Given the description of an element on the screen output the (x, y) to click on. 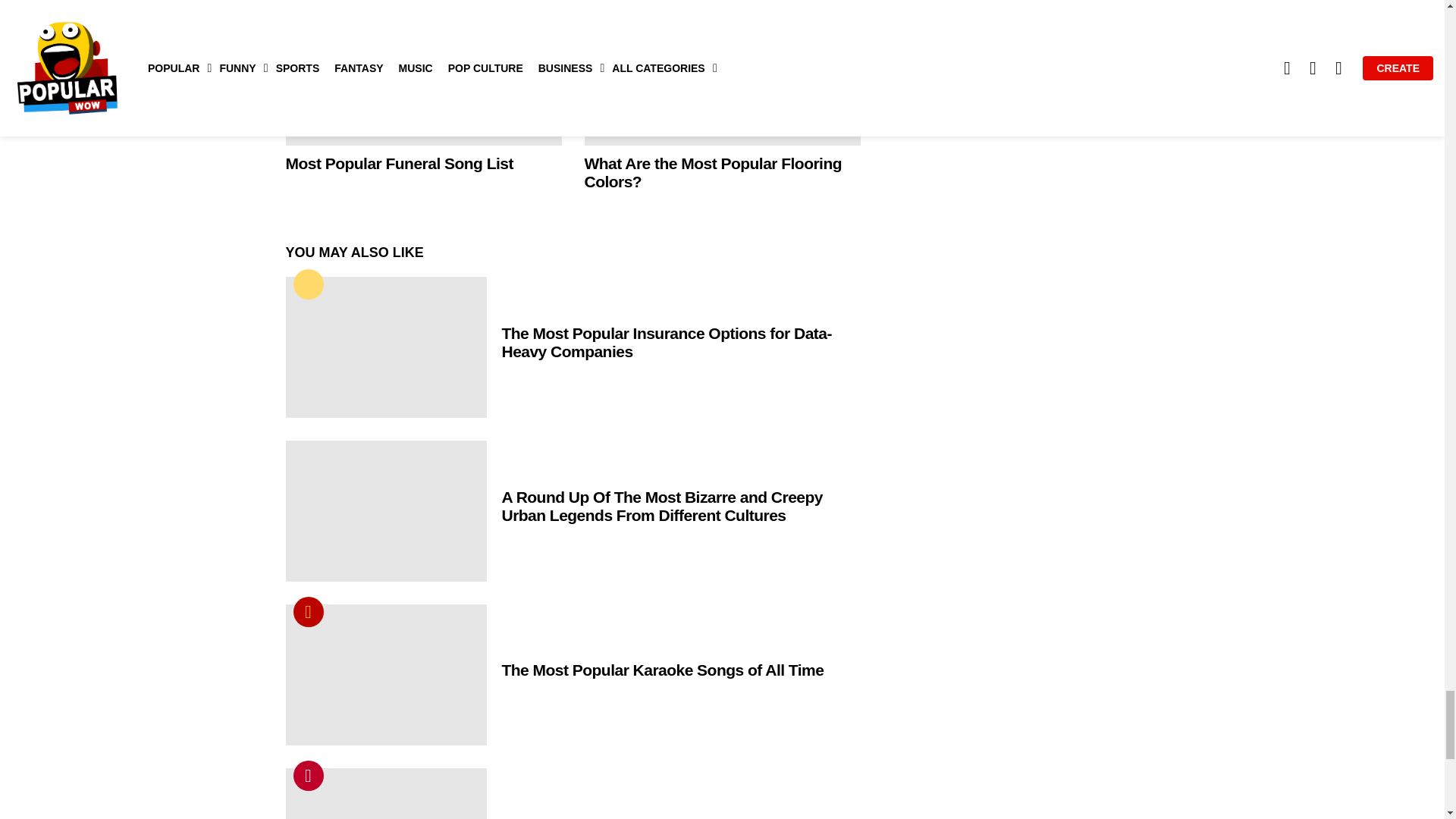
The Most Popular Insurance Options for Data-Heavy Companies (385, 346)
Geeky (307, 284)
Most Popular Funeral Song List (422, 72)
What Are the Most Popular Flooring Colors? (721, 72)
